Given the description of an element on the screen output the (x, y) to click on. 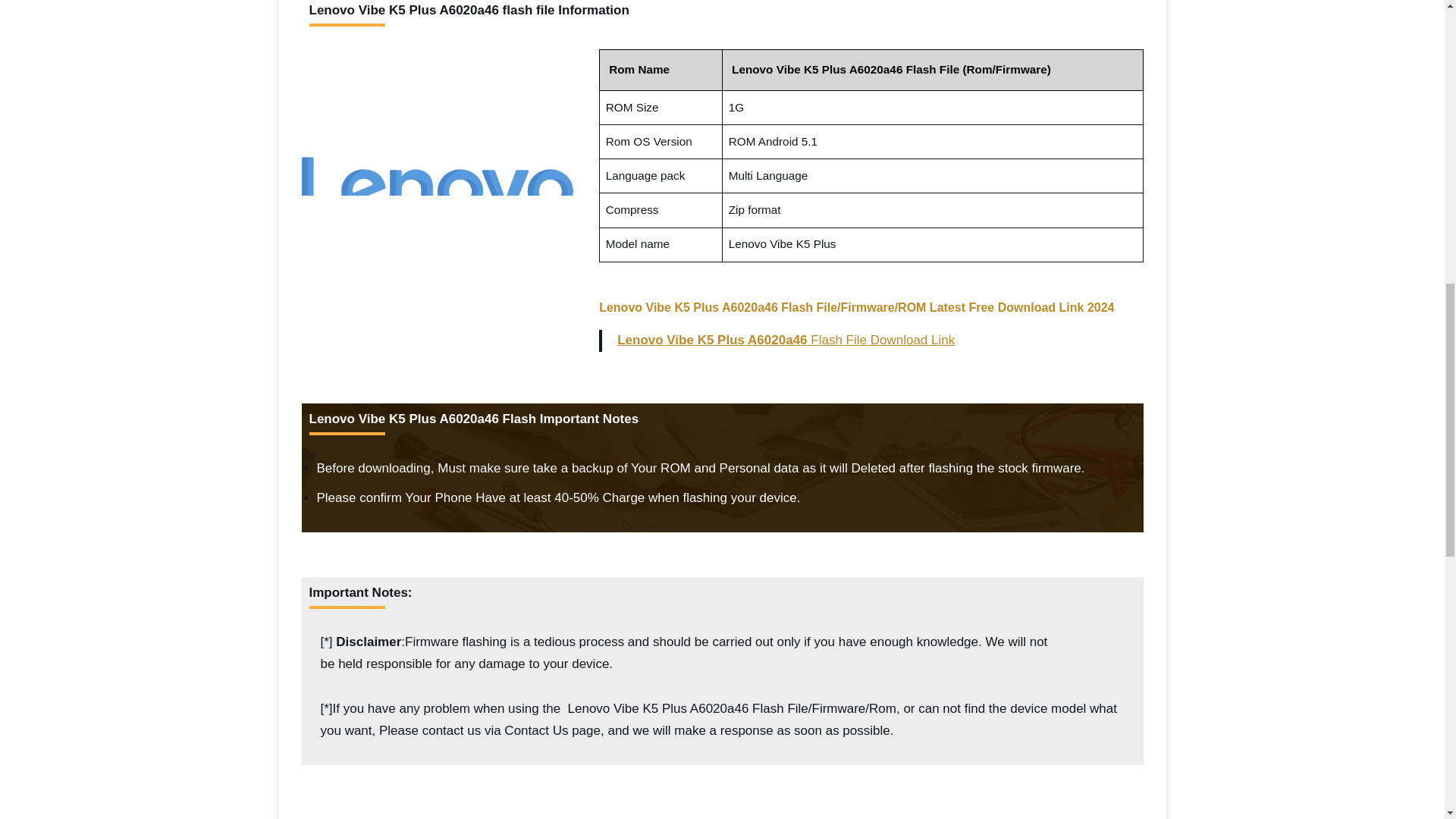
Lenovo Vibe K5 Plus A6020a46 Flash File Download Link (786, 339)
